Given the description of an element on the screen output the (x, y) to click on. 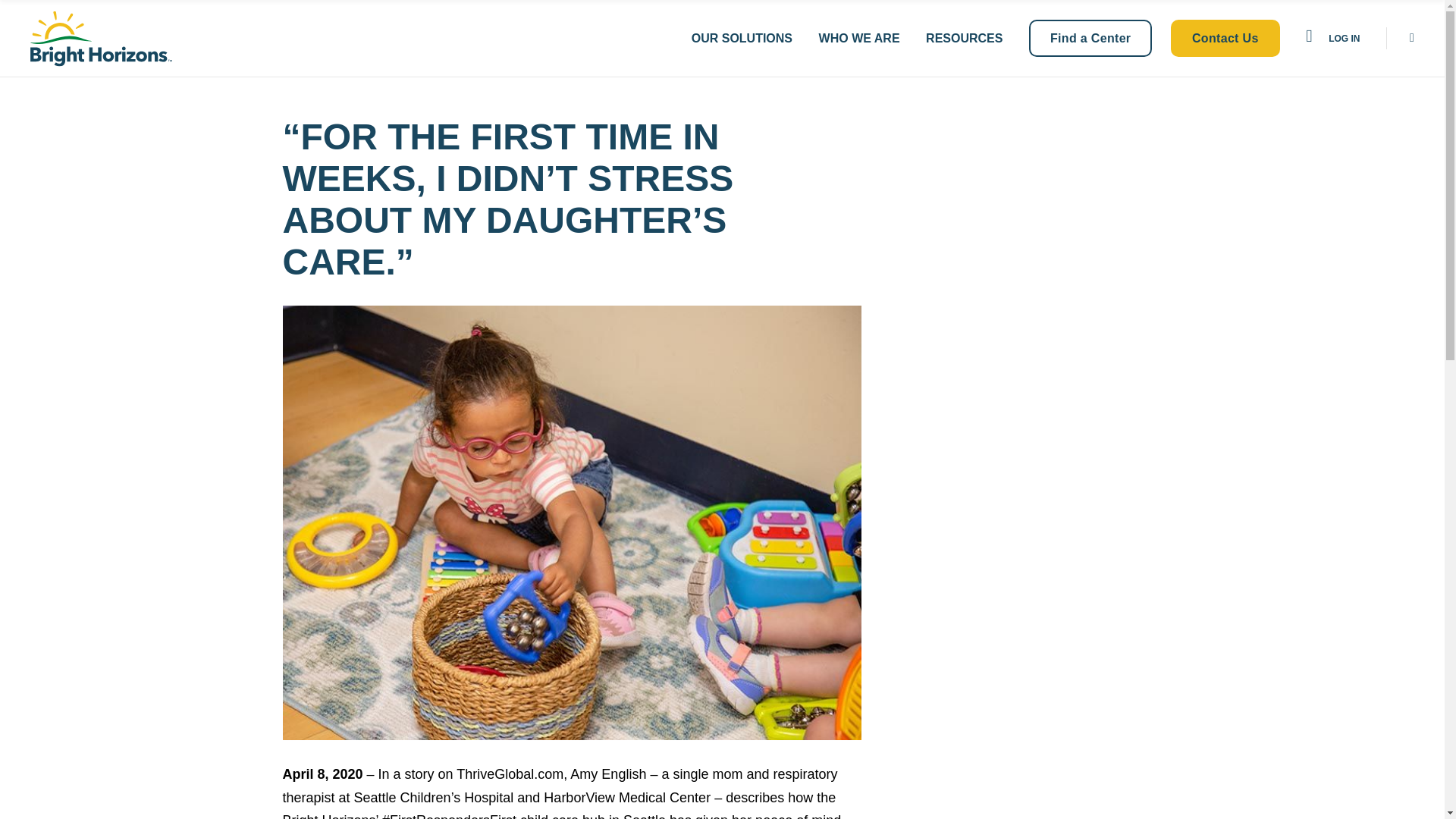
WHO WE ARE (858, 38)
Skip Navigation (60, 14)
Skip to Footer (56, 14)
OUR SOLUTIONS (741, 38)
